Given the description of an element on the screen output the (x, y) to click on. 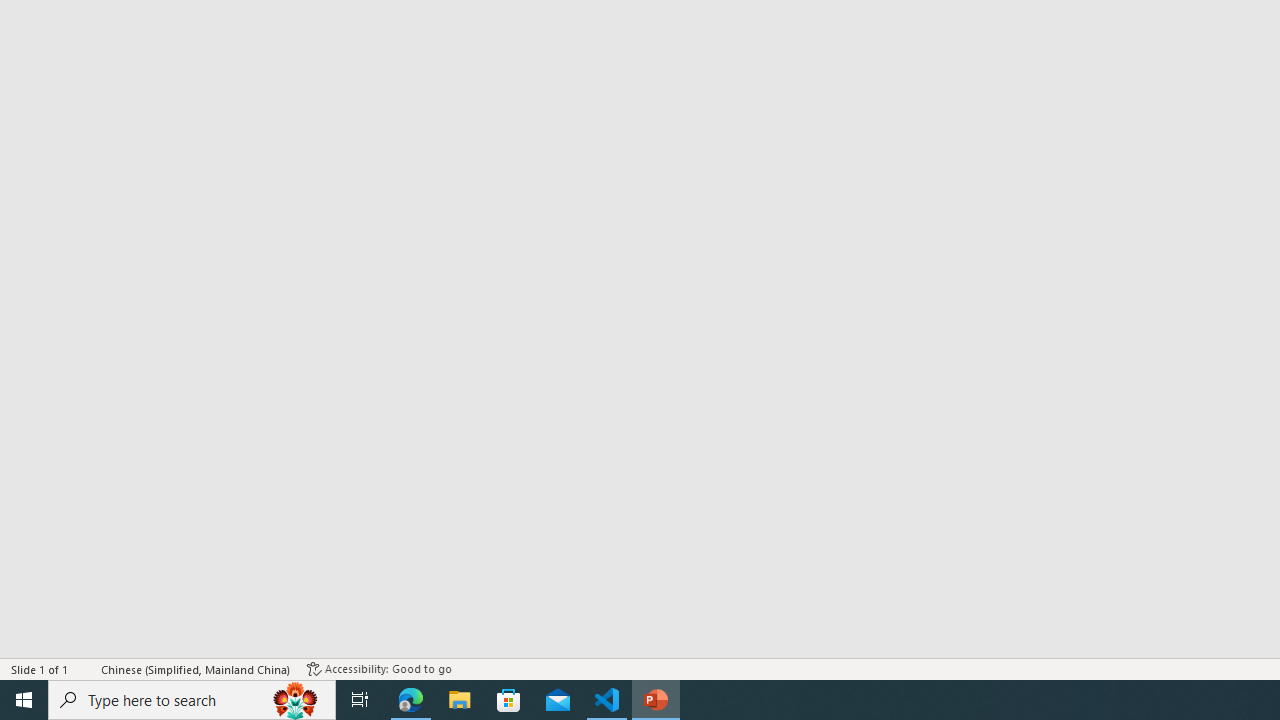
Accessibility Checker Accessibility: Good to go (379, 668)
Spell Check  (86, 668)
